Given the description of an element on the screen output the (x, y) to click on. 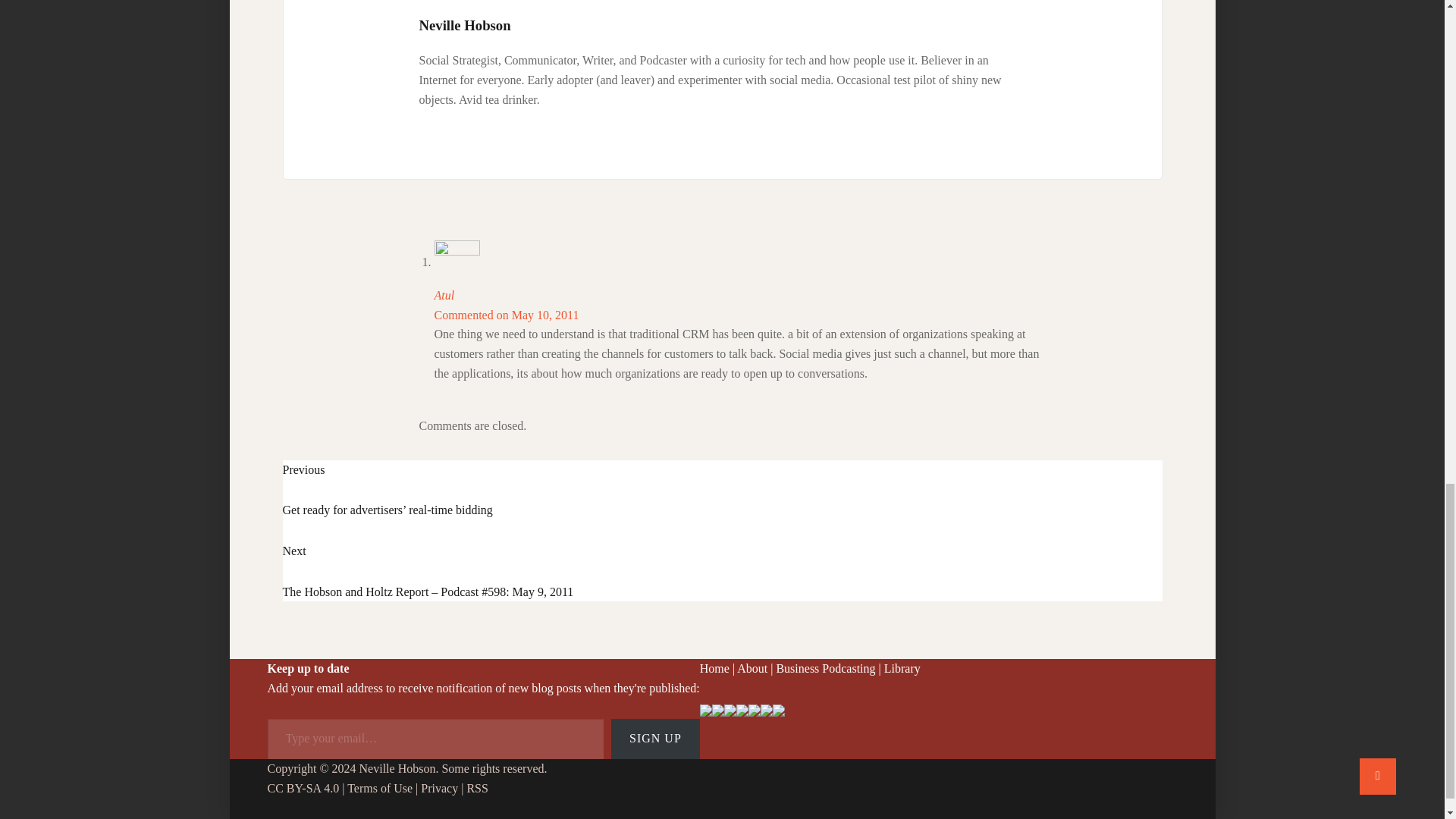
Please fill in this field. (435, 739)
Atul (443, 295)
Commented on May 10, 2011 (505, 314)
